Given the description of an element on the screen output the (x, y) to click on. 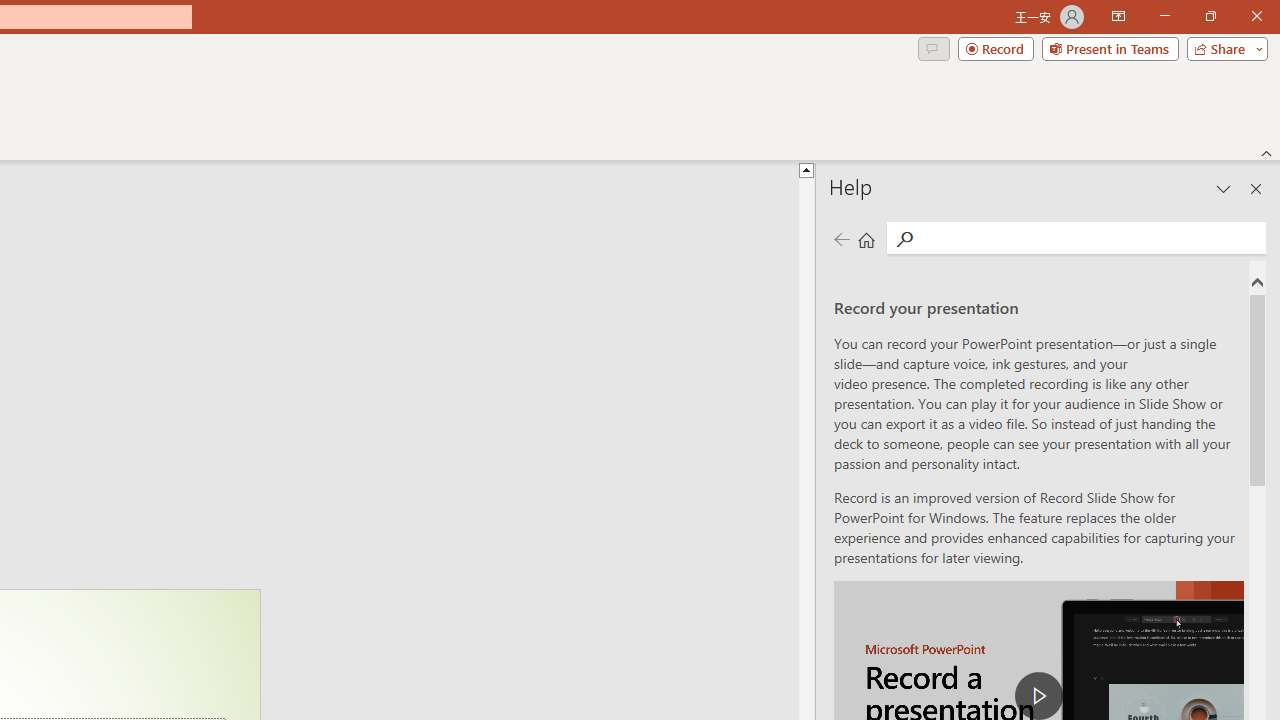
play Record a Presentation (1038, 695)
